Given the description of an element on the screen output the (x, y) to click on. 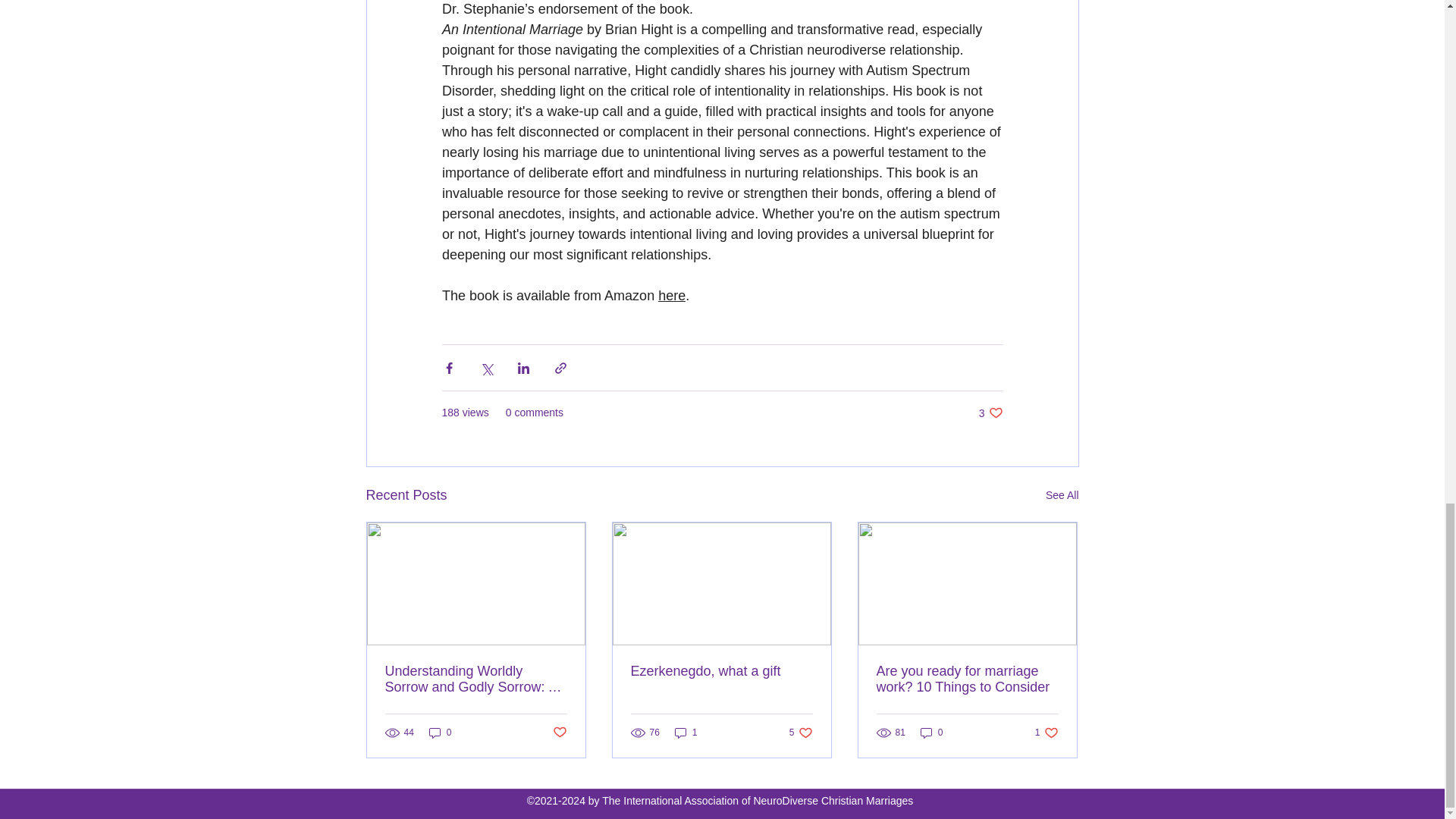
0 (440, 732)
Are you ready for marriage work? 10 Things to Consider (967, 679)
Post not marked as liked (558, 731)
here (671, 295)
See All (1061, 495)
1 (685, 732)
Ezerkenegdo, what a gift (800, 732)
